Given the description of an element on the screen output the (x, y) to click on. 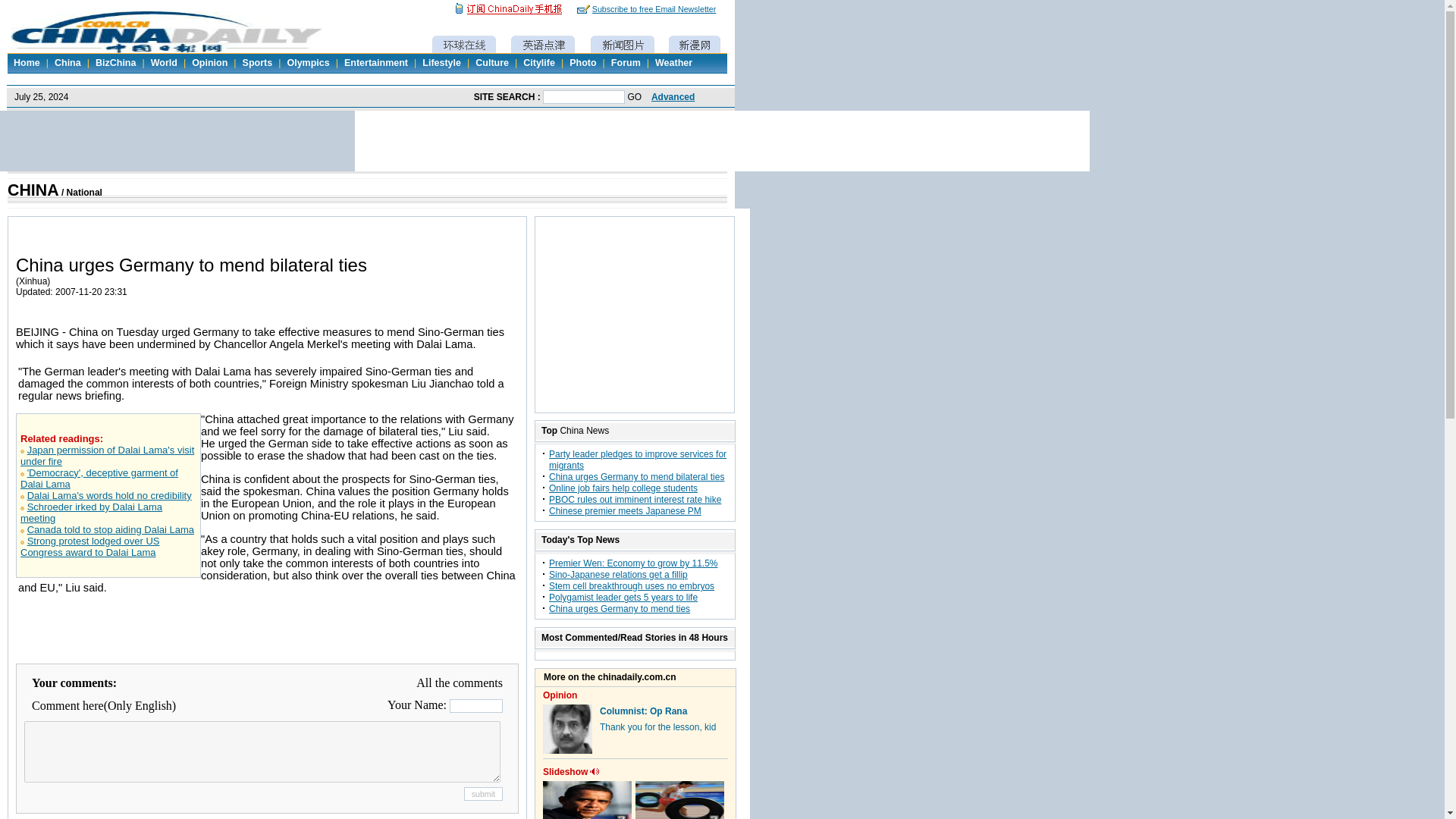
All the comments (459, 682)
Canada told to stop aiding Dalai Lama (110, 529)
'Democracy', deceptive garment of Dalai Lama (98, 477)
Chinese premier meets Japanese PM (624, 511)
Citylife (538, 62)
BizChina (114, 62)
PBOC rules out imminent interest rate hike (634, 499)
China urges Germany to mend bilateral ties (635, 476)
Online job fairs help college students (622, 488)
Entertainment (375, 62)
Party leader pledges to improve services for migrants (637, 459)
Weather (673, 62)
 submit  (483, 793)
Sino-Japanese relations get a fillip (617, 574)
Home (26, 62)
